Given the description of an element on the screen output the (x, y) to click on. 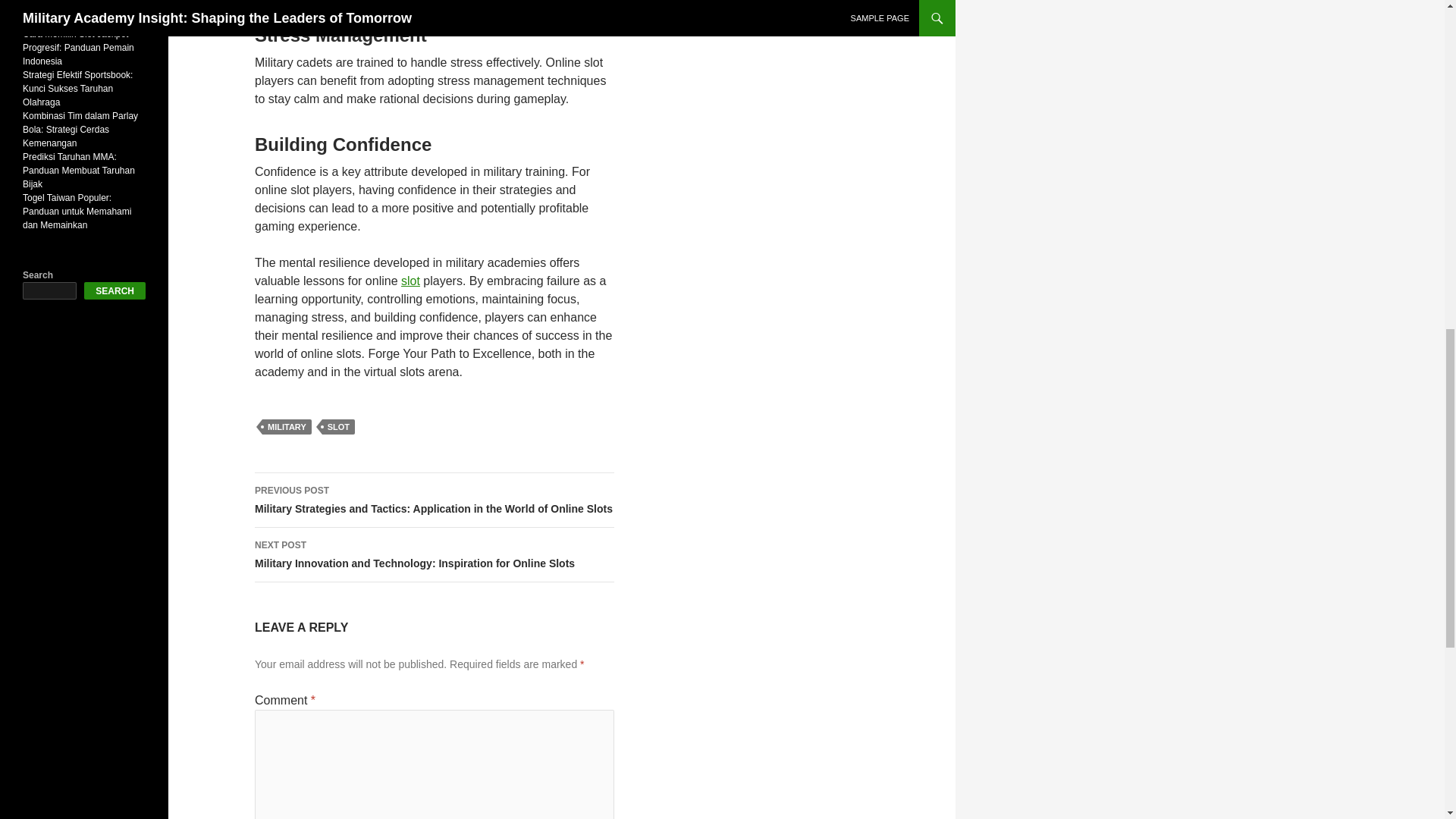
slot (410, 280)
MILITARY (286, 426)
SLOT (338, 426)
